Given the description of an element on the screen output the (x, y) to click on. 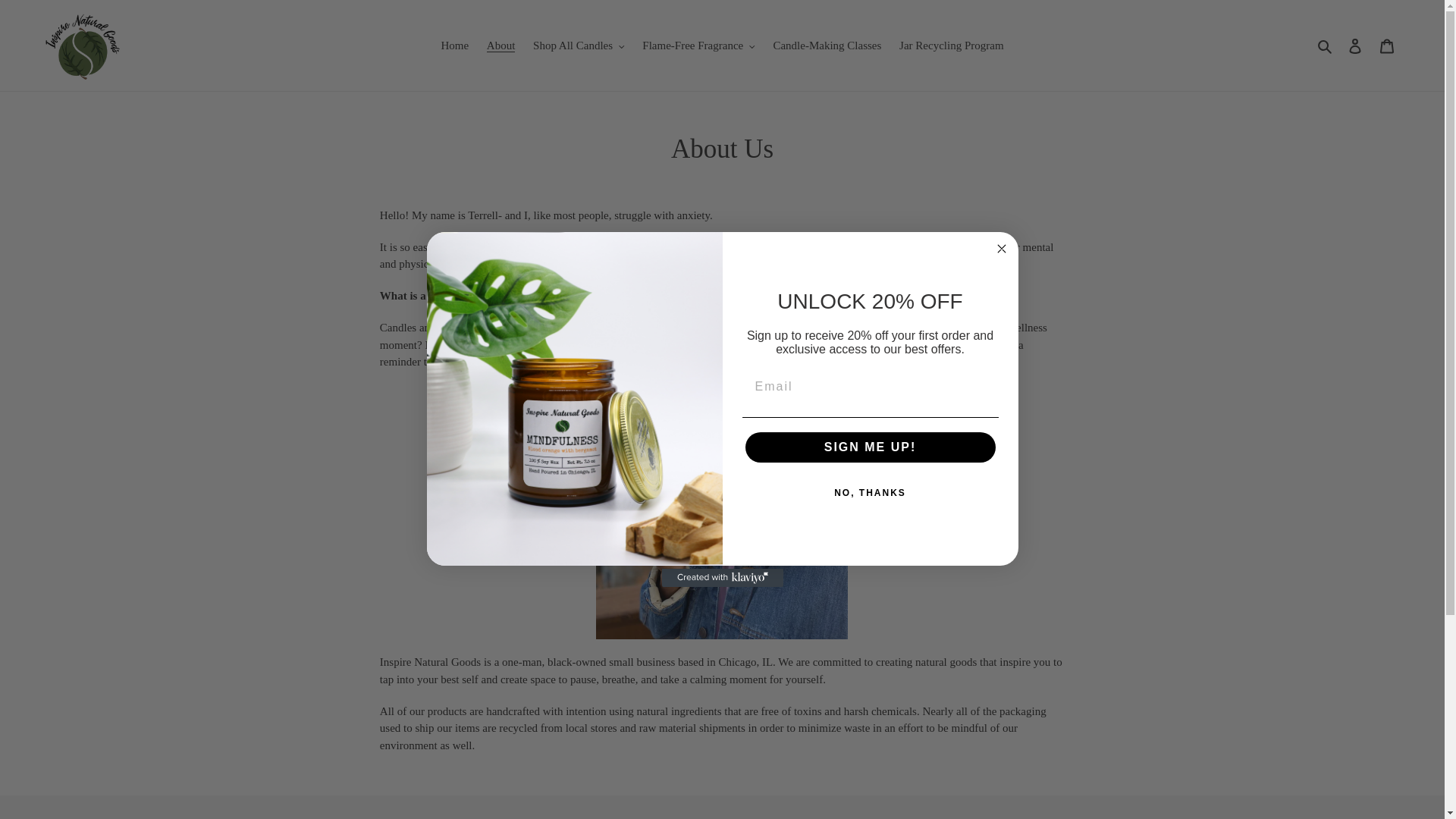
About (500, 45)
Log in (1355, 45)
Shop All Candles (578, 45)
Cart (1387, 45)
Candle-Making Classes (826, 45)
Jar Recycling Program (950, 45)
Search (1326, 45)
Flame-Free Fragrance (697, 45)
Home (454, 45)
